Given the description of an element on the screen output the (x, y) to click on. 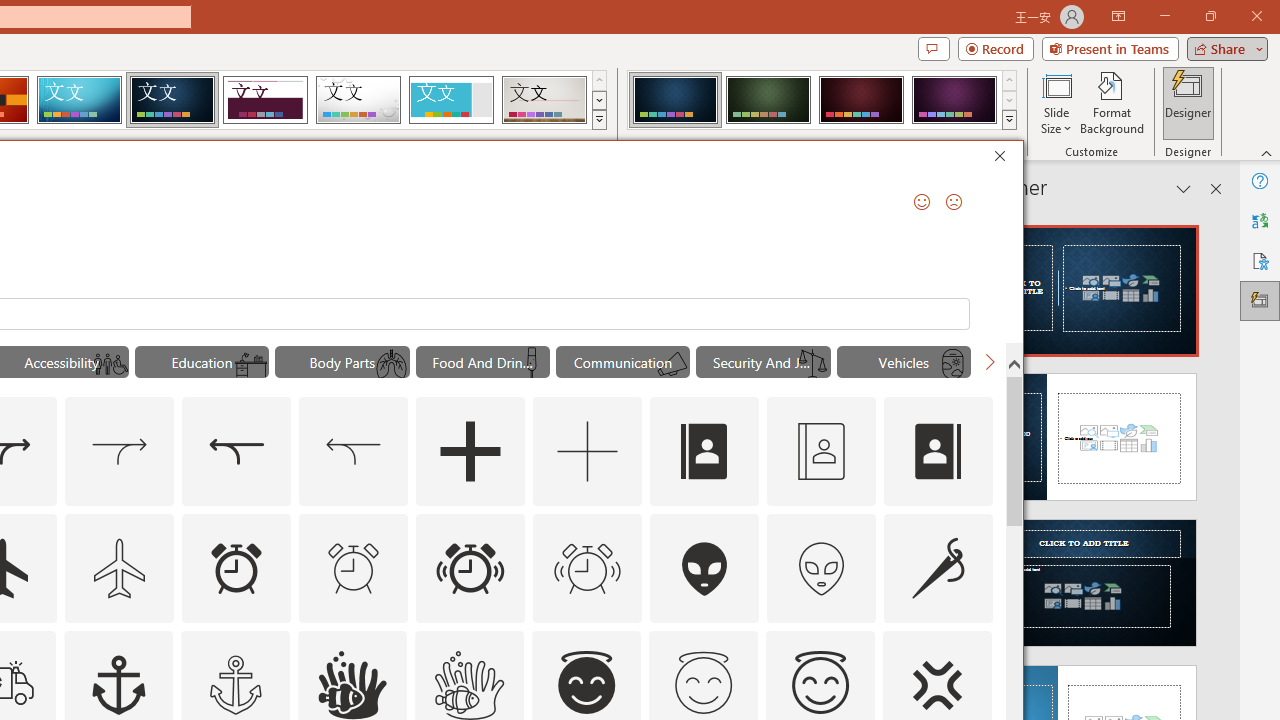
AutomationID: Icons_AlarmRinging (470, 568)
Variants (1009, 120)
AutomationID: ThemeVariantsGallery (822, 99)
"Communication" Icons. (622, 362)
AutomationID: Icons (703, 683)
AutomationID: Icons_Acquisition_RTL (236, 452)
AutomationID: Icons_AddressBook_LTR_M (821, 452)
